Given the description of an element on the screen output the (x, y) to click on. 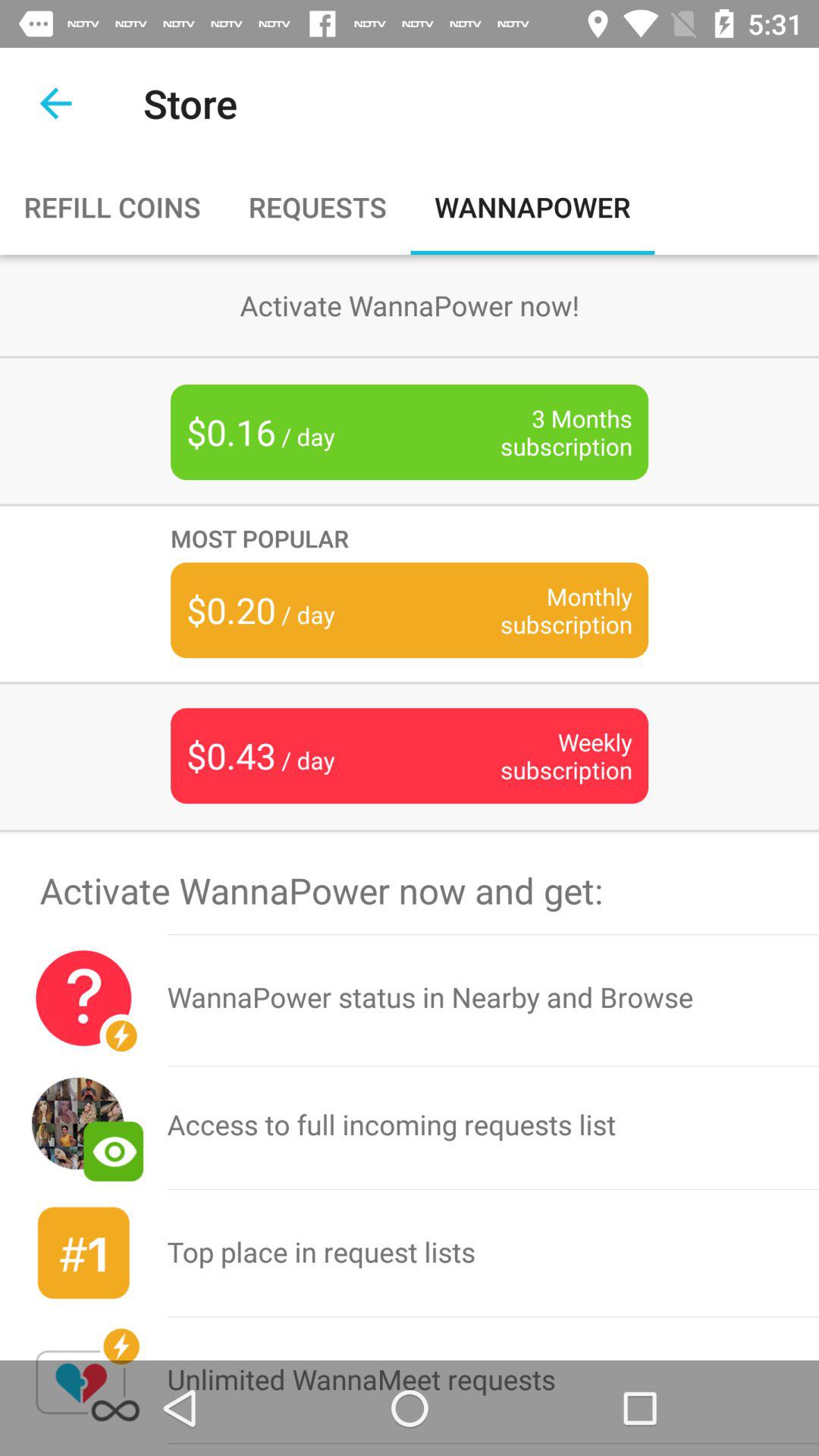
turn off item next to $0.20 / day (543, 610)
